Given the description of an element on the screen output the (x, y) to click on. 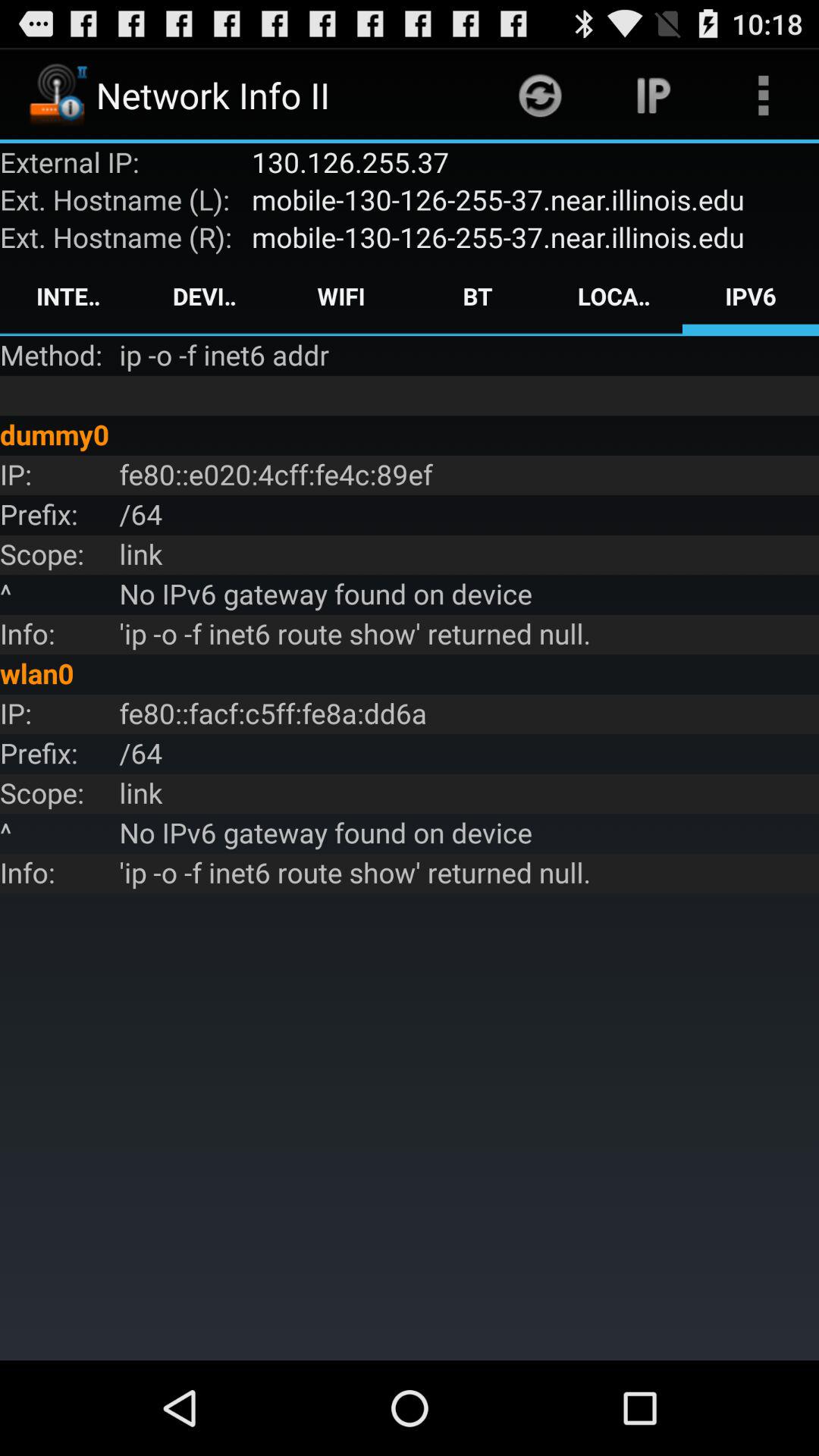
click the app above the ip o f app (477, 295)
